Given the description of an element on the screen output the (x, y) to click on. 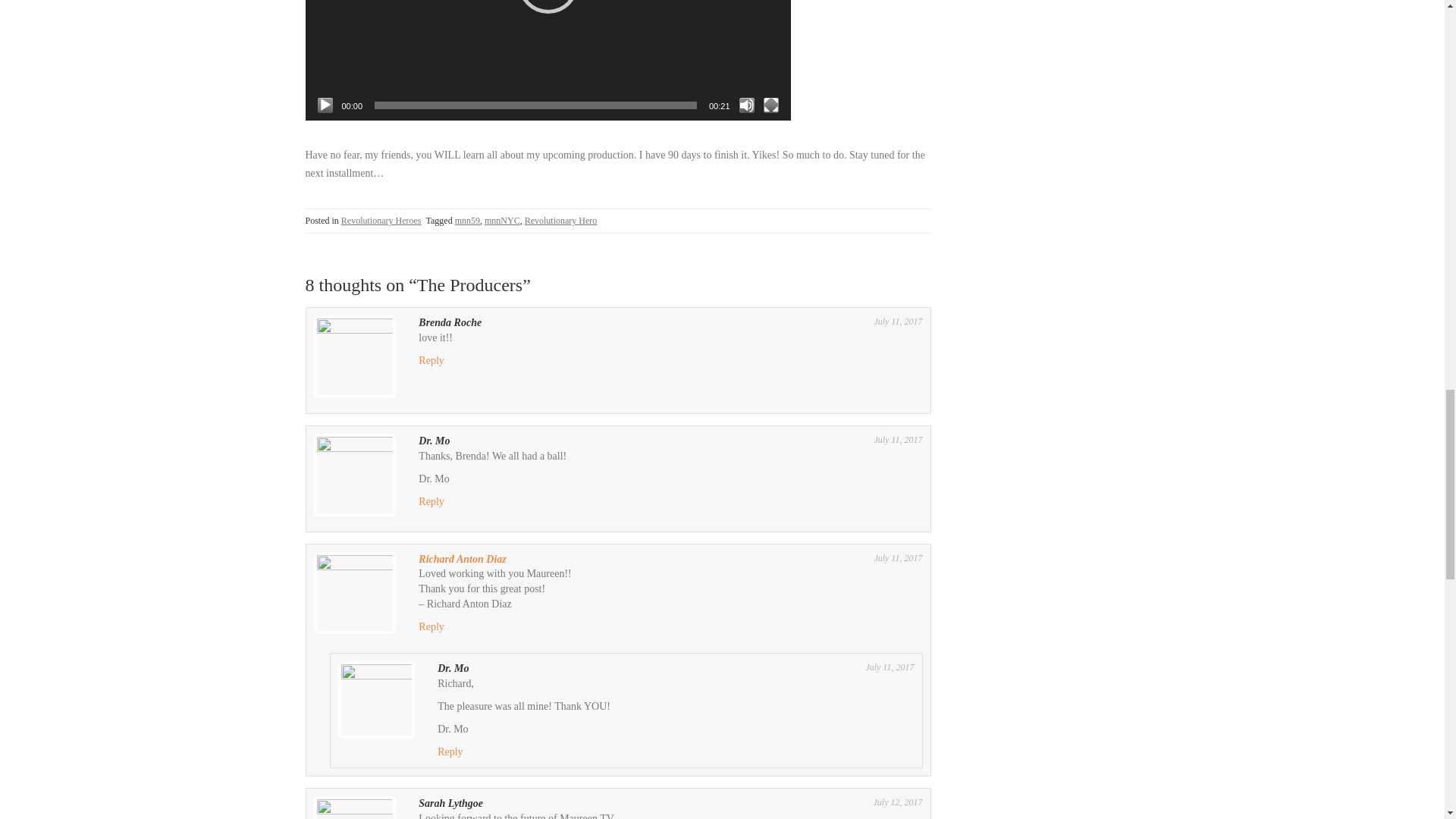
Reply (431, 501)
Mute (746, 105)
mnnNYC (501, 220)
Richard Anton Diaz (462, 559)
mnn59 (467, 220)
Revolutionary Hero (560, 220)
Fullscreen (769, 105)
Reply (450, 751)
Reply (431, 360)
Reply (431, 626)
Play (324, 105)
Revolutionary Heroes (381, 220)
